Given the description of an element on the screen output the (x, y) to click on. 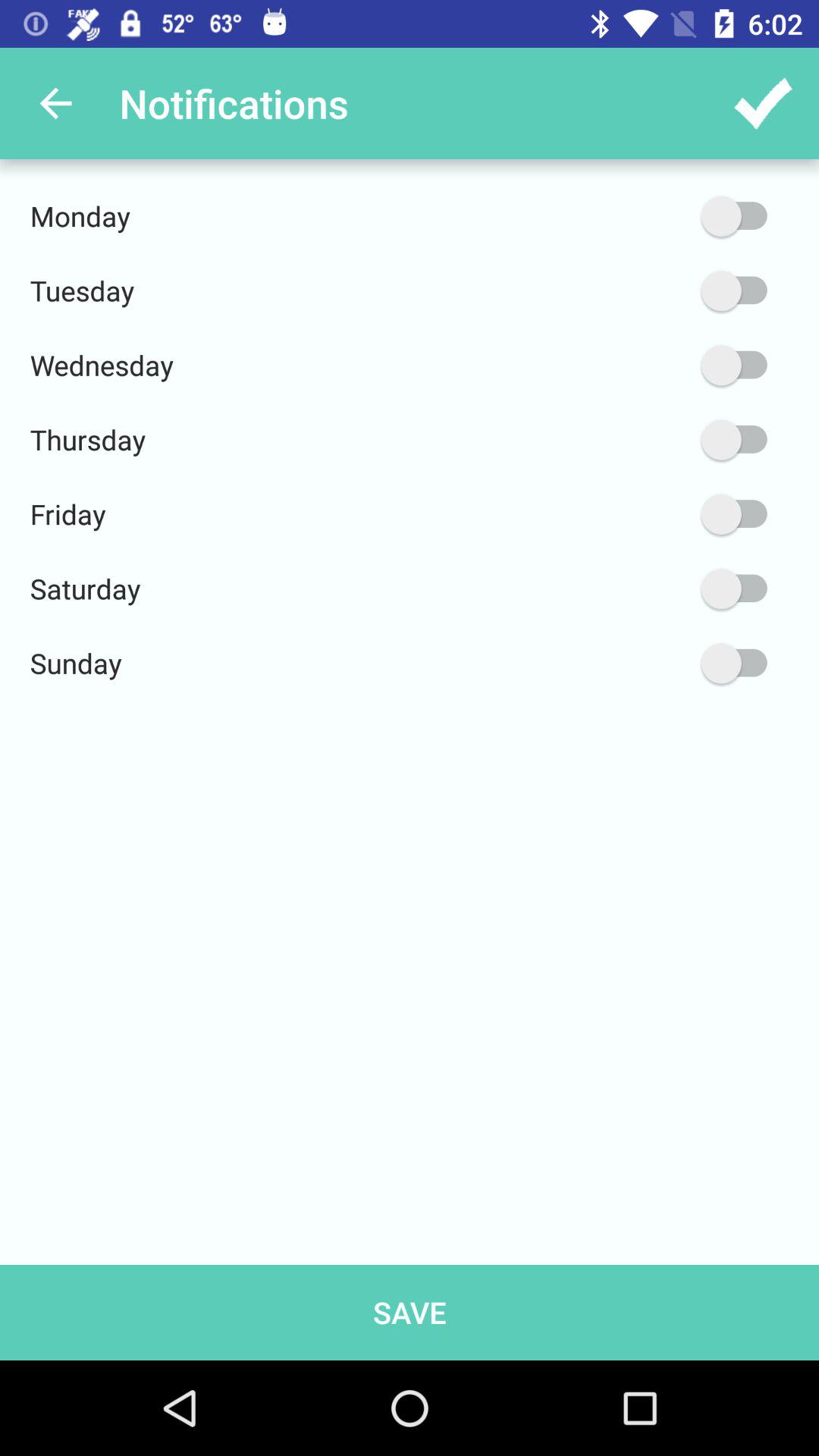
toggle saturday notification (661, 588)
